Given the description of an element on the screen output the (x, y) to click on. 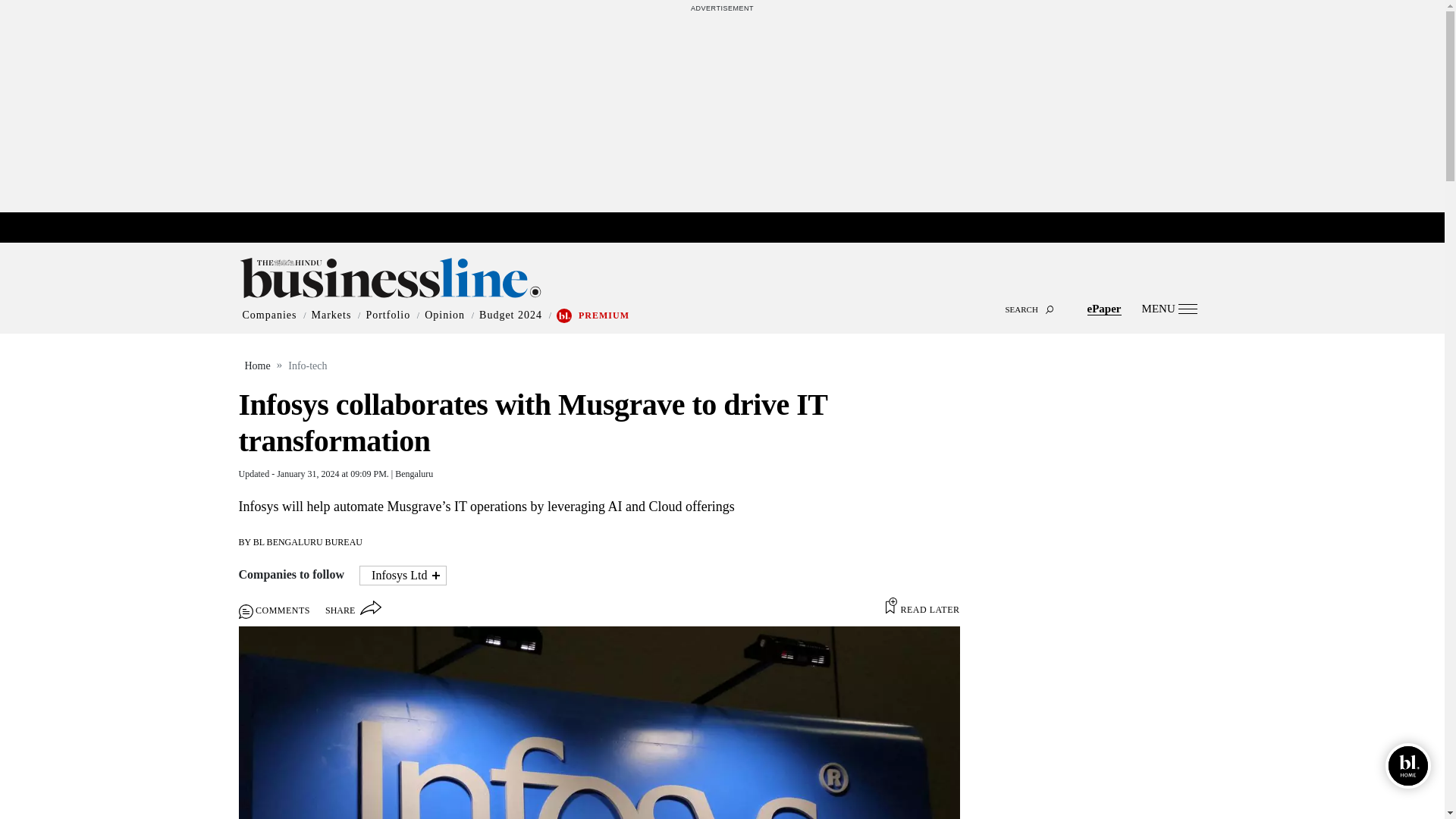
Budget 2024 (510, 315)
SEARCH (721, 295)
marketupdate (729, 228)
Portfolio (387, 315)
Opinion (444, 315)
Markets (330, 315)
ePaper (1104, 308)
Companies (270, 315)
PREMIUM (603, 315)
